Given the description of an element on the screen output the (x, y) to click on. 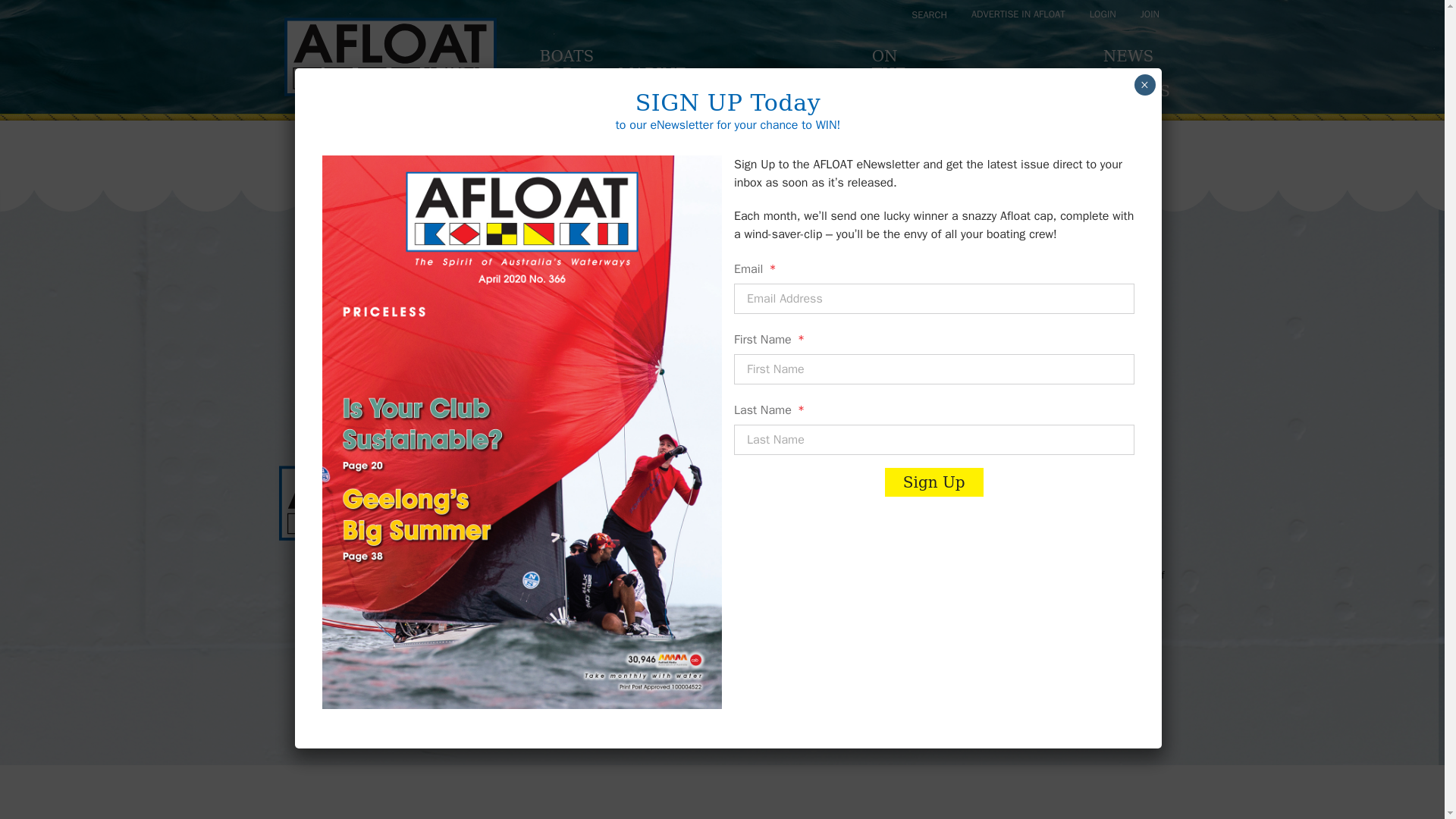
Sign Up (1040, 389)
